Given the description of an element on the screen output the (x, y) to click on. 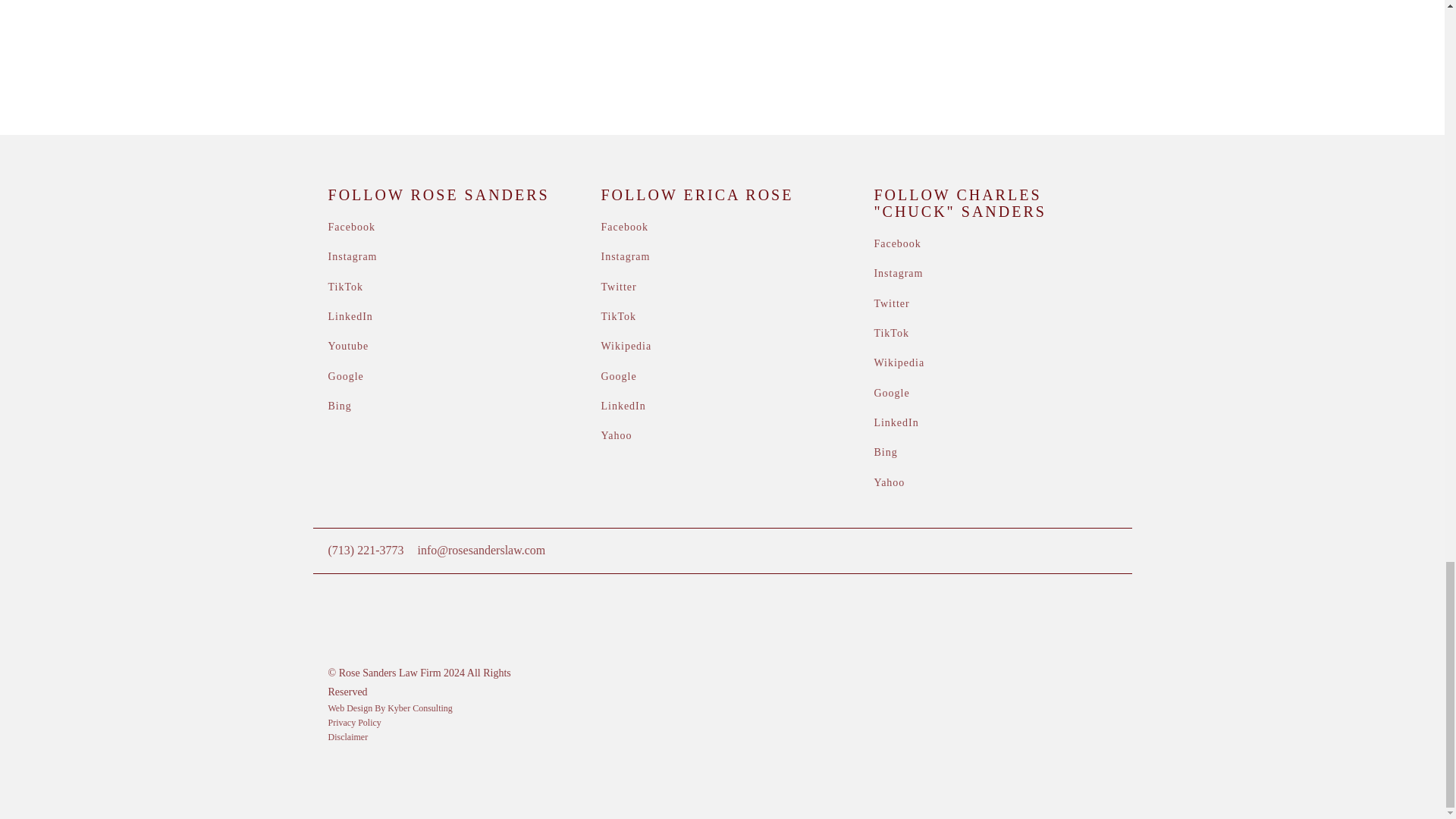
Facebook (352, 226)
TikTok (346, 286)
Instagram (353, 256)
LinkedIn (350, 316)
